Given the description of an element on the screen output the (x, y) to click on. 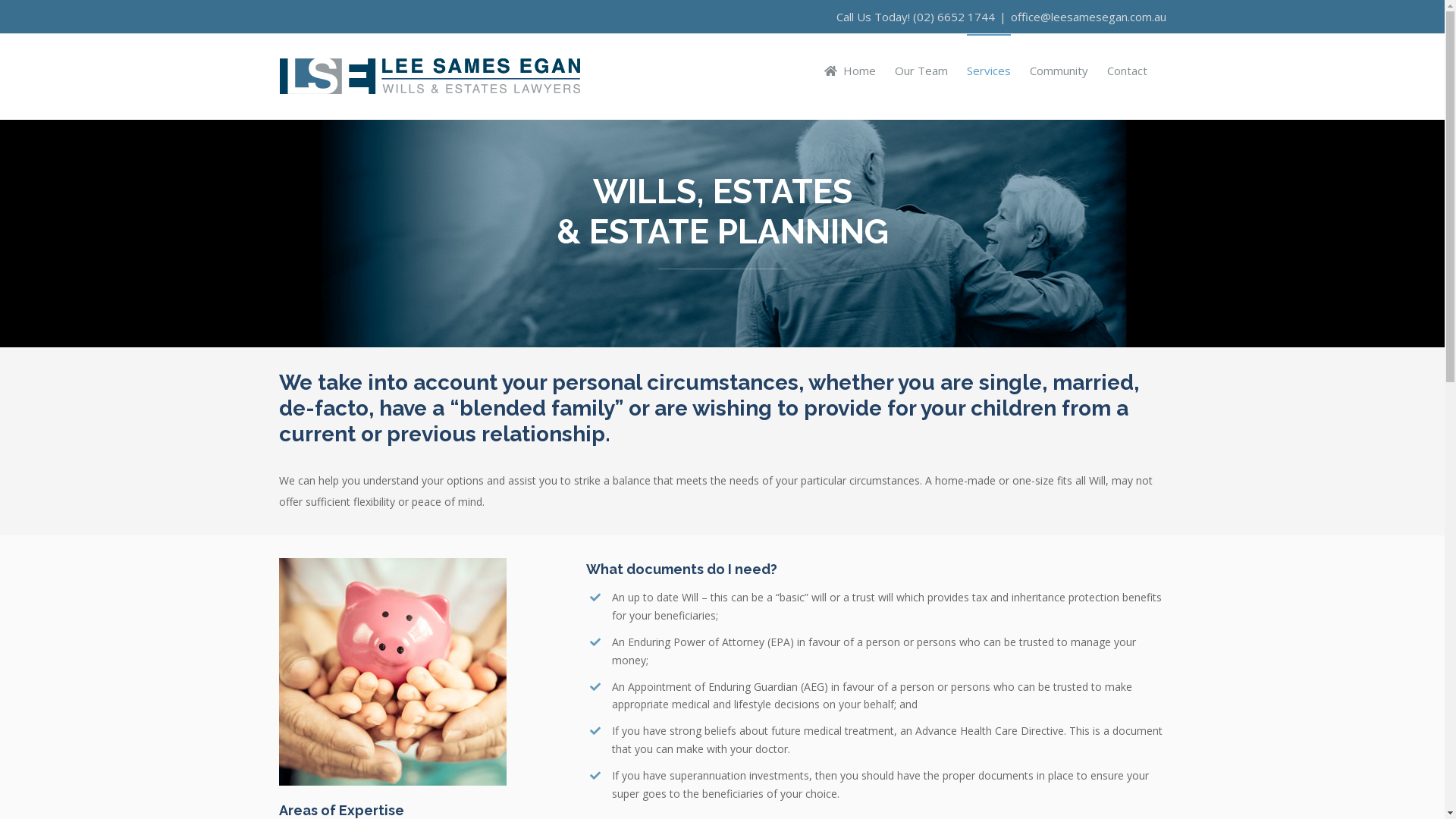
Community Element type: text (1058, 70)
Home Element type: text (849, 70)
Contact Element type: text (1127, 70)
office@leesamesegan.com.au Element type: text (1087, 16)
Our Team Element type: text (920, 70)
LSE-wills-trust Element type: hover (392, 671)
Services Element type: text (988, 70)
